Given the description of an element on the screen output the (x, y) to click on. 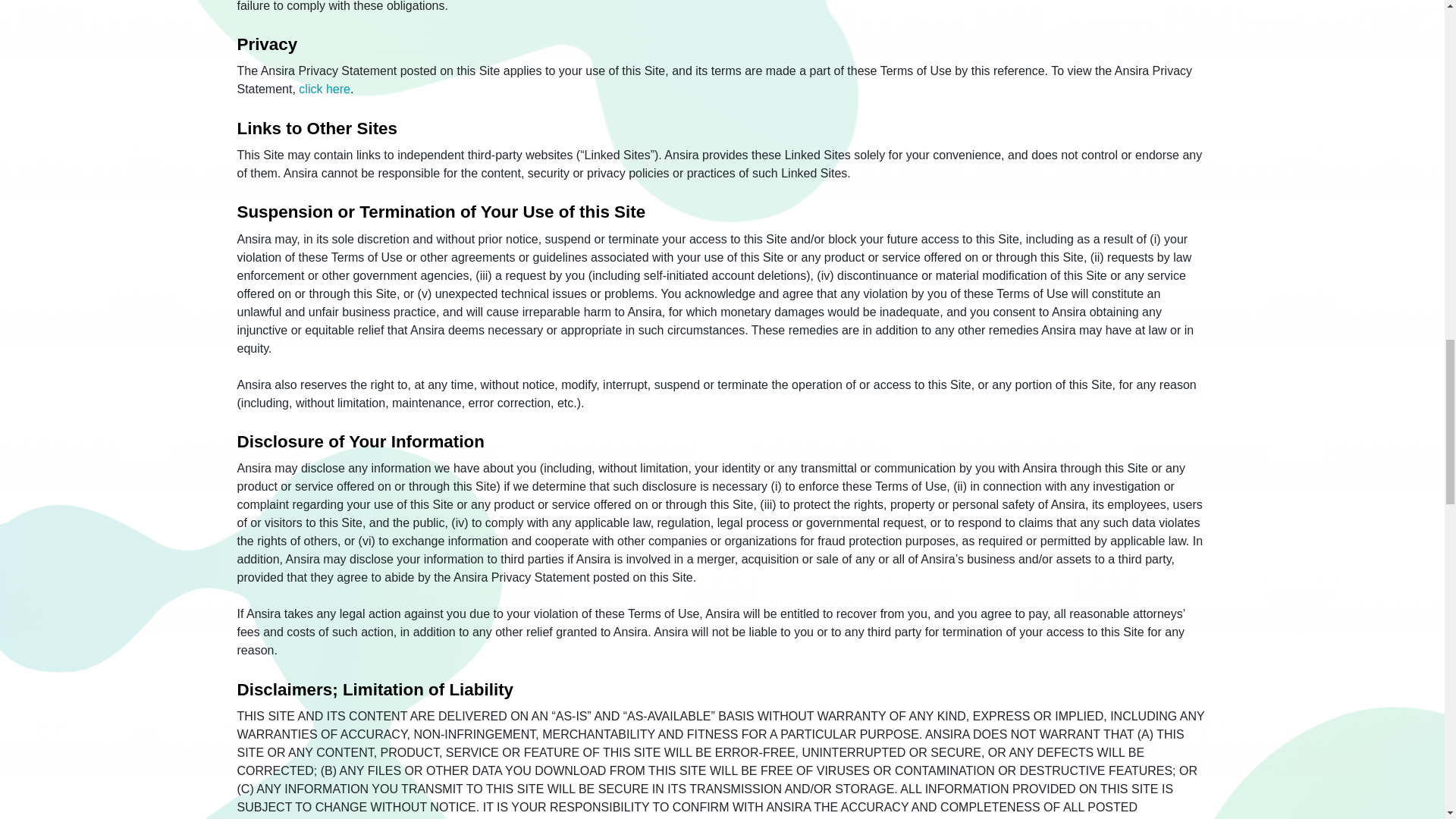
click here (324, 88)
